Given the description of an element on the screen output the (x, y) to click on. 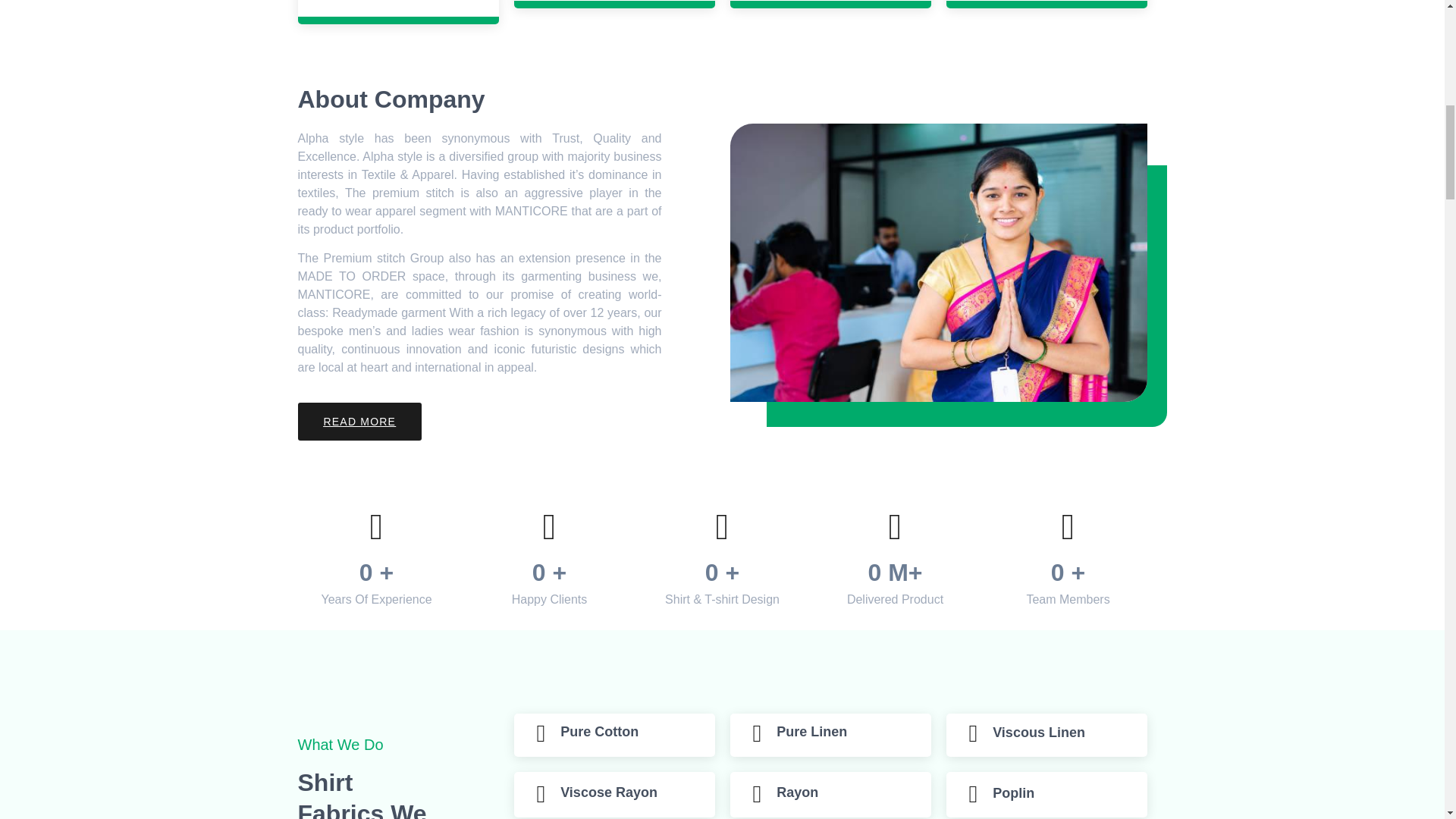
READ MORE (359, 421)
